Given the description of an element on the screen output the (x, y) to click on. 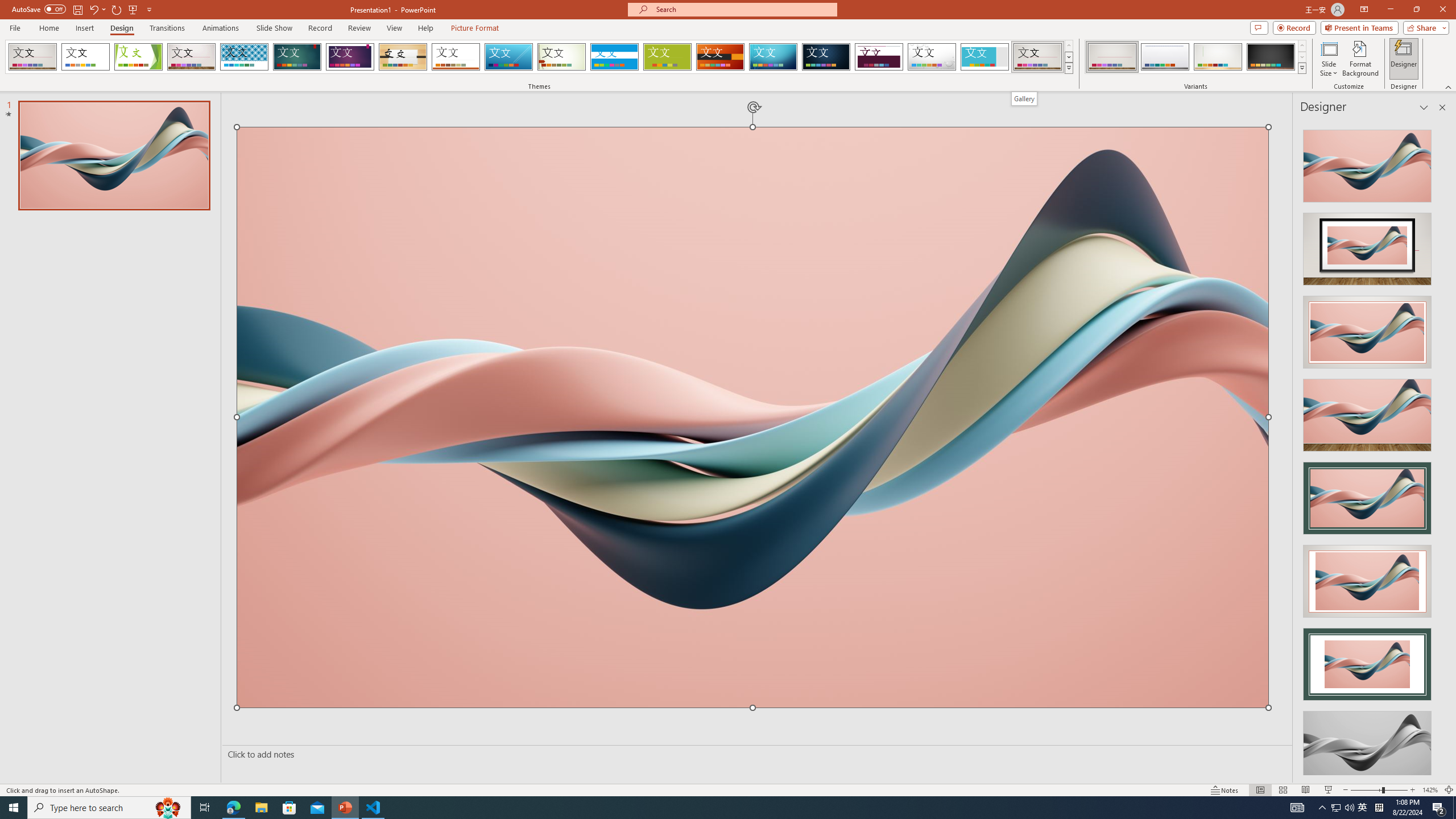
Integral (244, 56)
Zoom 142% (1430, 790)
Frame (984, 56)
Basis (667, 56)
